Given the description of an element on the screen output the (x, y) to click on. 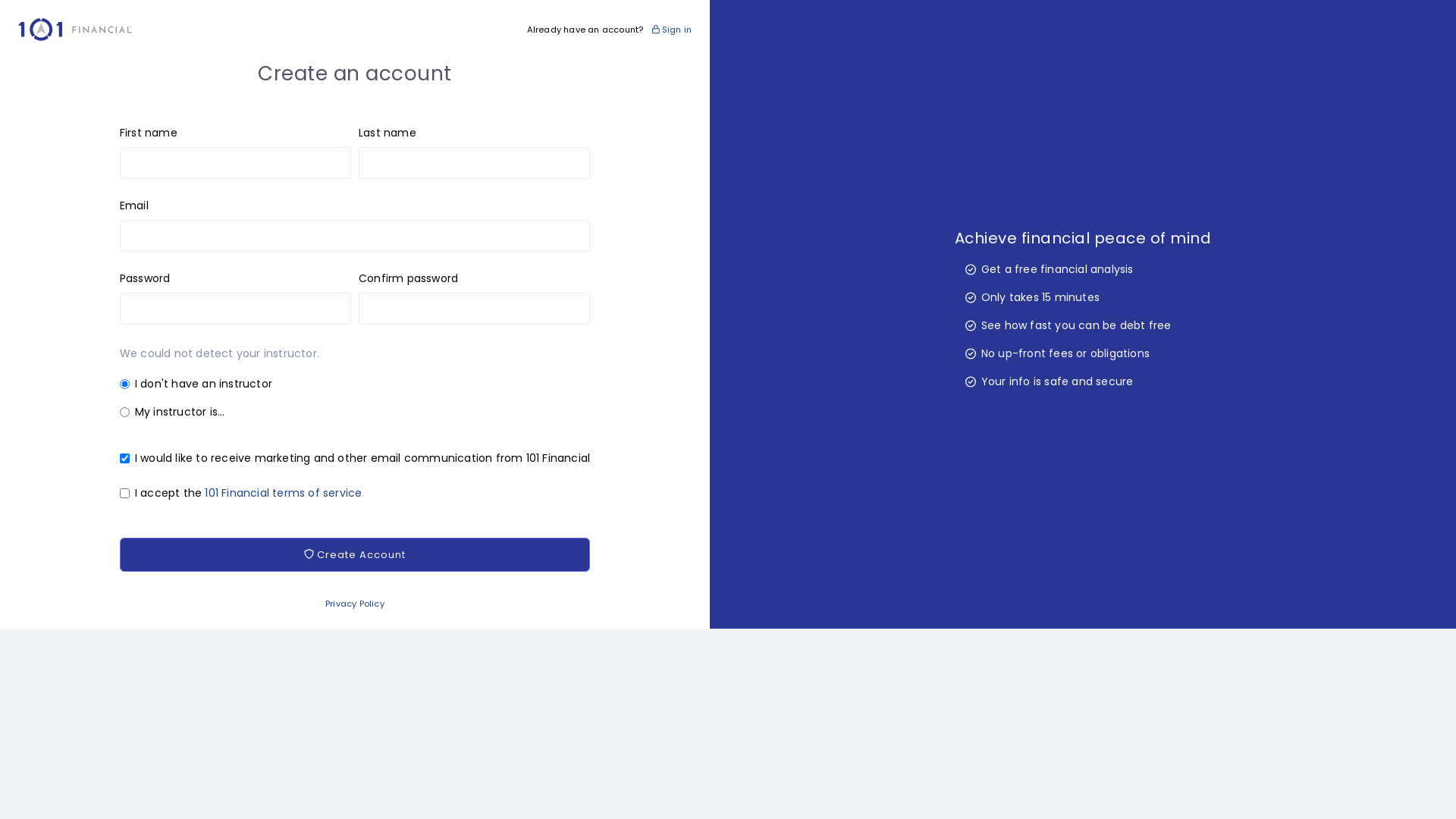
101 Financial terms of service Element type: text (282, 492)
Privacy Policy Element type: text (354, 603)
Create Account Element type: text (354, 554)
Sign in Element type: text (671, 29)
